Given the description of an element on the screen output the (x, y) to click on. 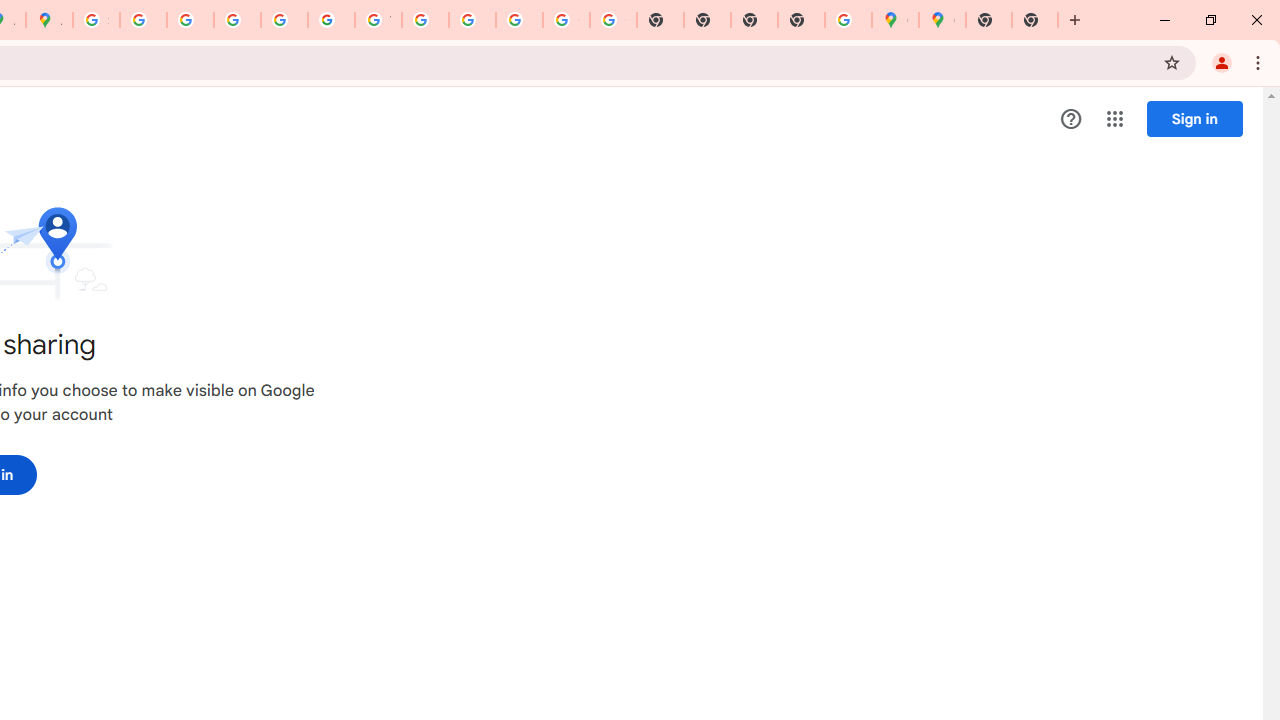
New Tab (989, 20)
New Tab (1035, 20)
Privacy Help Center - Policies Help (189, 20)
Privacy Help Center - Policies Help (237, 20)
Google Maps (942, 20)
